Given the description of an element on the screen output the (x, y) to click on. 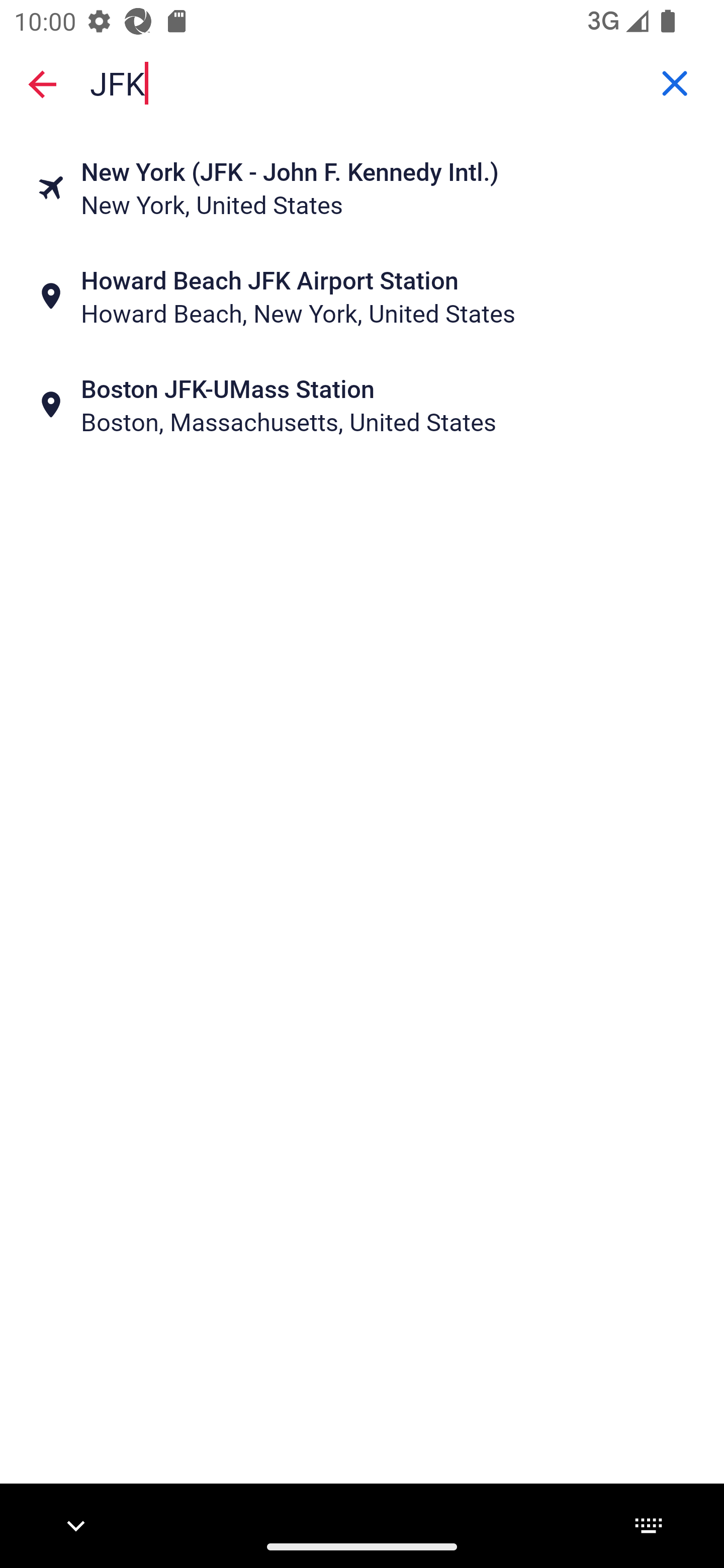
Clear Pick-up (674, 82)
Pick-up, JFK (361, 82)
Close search screen (41, 83)
